Given the description of an element on the screen output the (x, y) to click on. 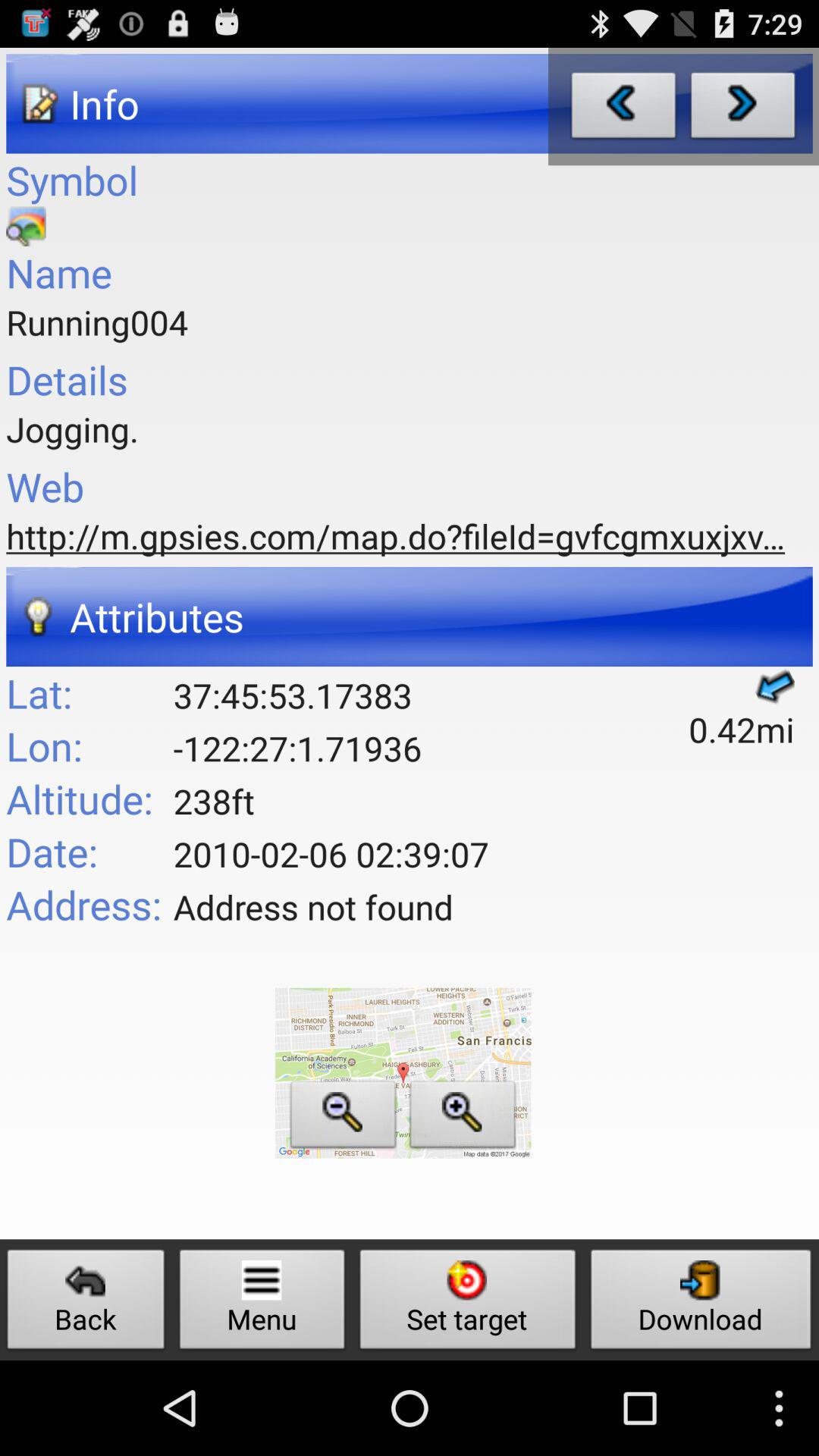
go back (623, 109)
